Given the description of an element on the screen output the (x, y) to click on. 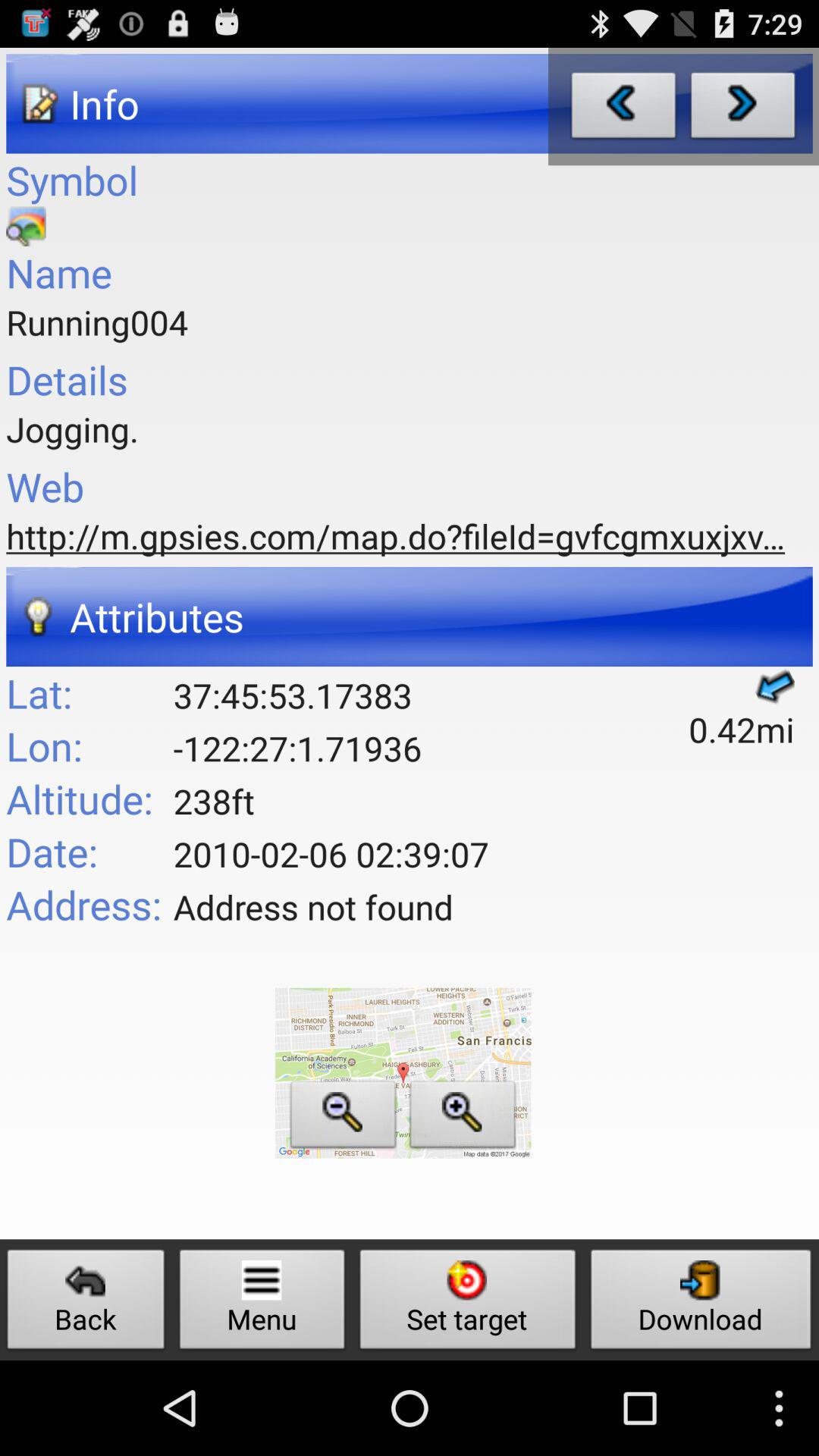
go back (623, 109)
